Given the description of an element on the screen output the (x, y) to click on. 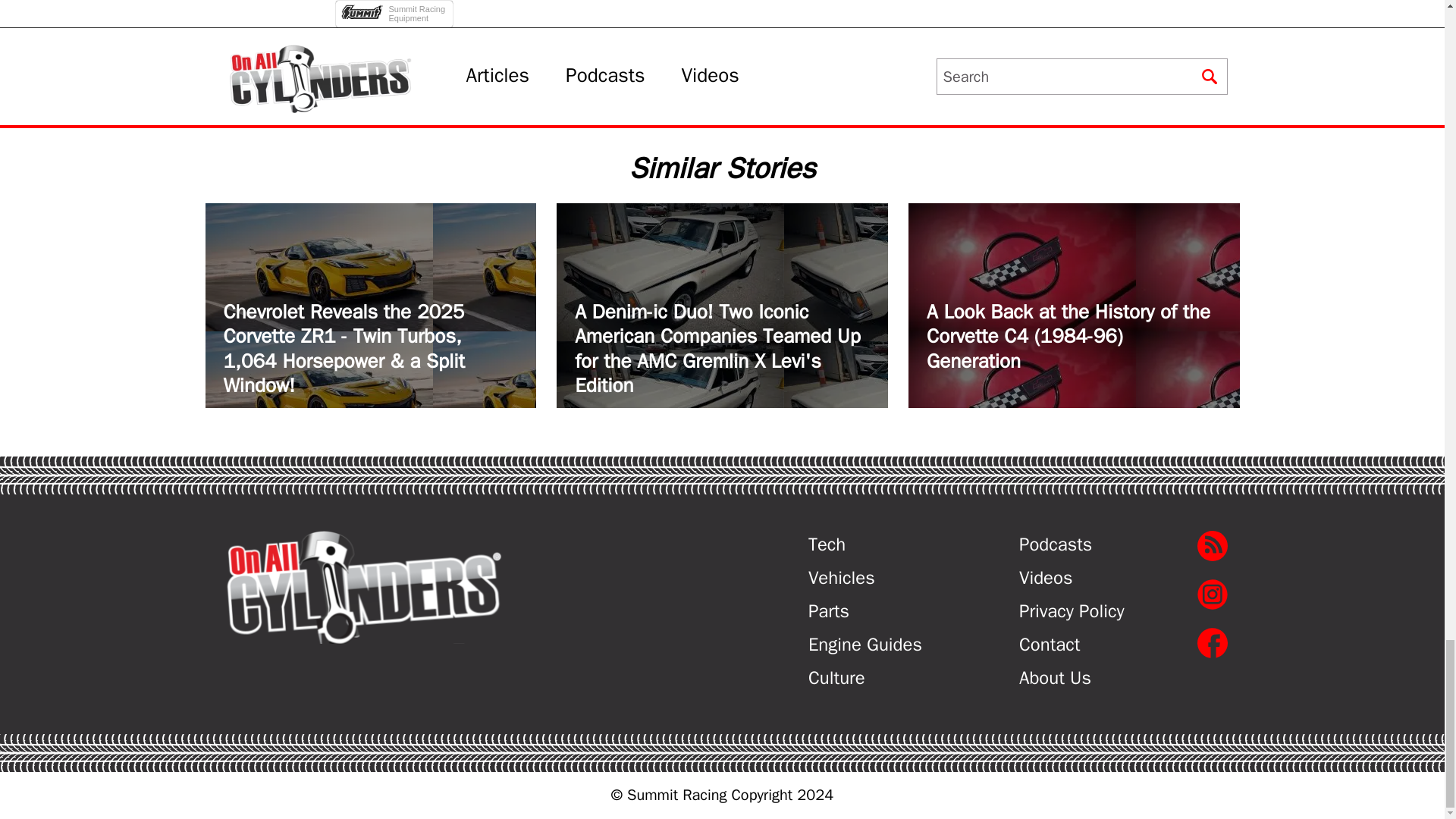
Post Comment (395, 3)
